Given the description of an element on the screen output the (x, y) to click on. 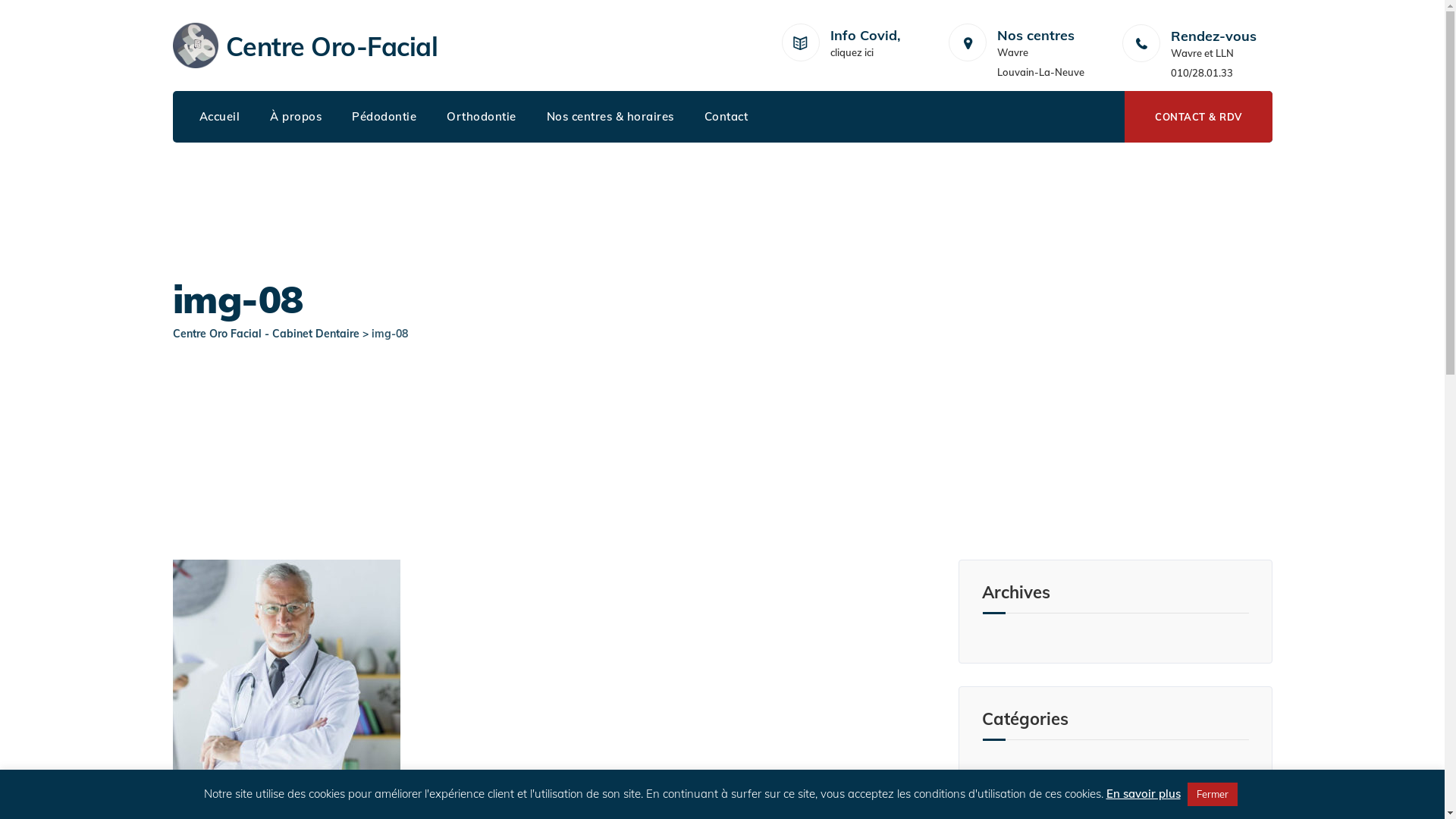
Orthodontie Element type: text (481, 116)
Contact Element type: text (725, 116)
En savoir plus Element type: text (1142, 793)
Centre Oro Facial - Cabinet Dentaire Element type: text (265, 333)
Fermer Element type: text (1212, 794)
Rendez-vous
Wavre et LLN 010/28.01.33 Element type: text (1221, 54)
CONTACT & RDV Element type: text (1198, 116)
Centre Oro Facial - Cabinet Dentaire Element type: hover (195, 45)
Nos centres
Wavre
Louvain-La-Neuve Element type: text (1034, 45)
Nos centres & horaires Element type: text (609, 116)
Info Covid,
cliquez ici Element type: text (864, 45)
Accueil Element type: text (218, 116)
